Given the description of an element on the screen output the (x, y) to click on. 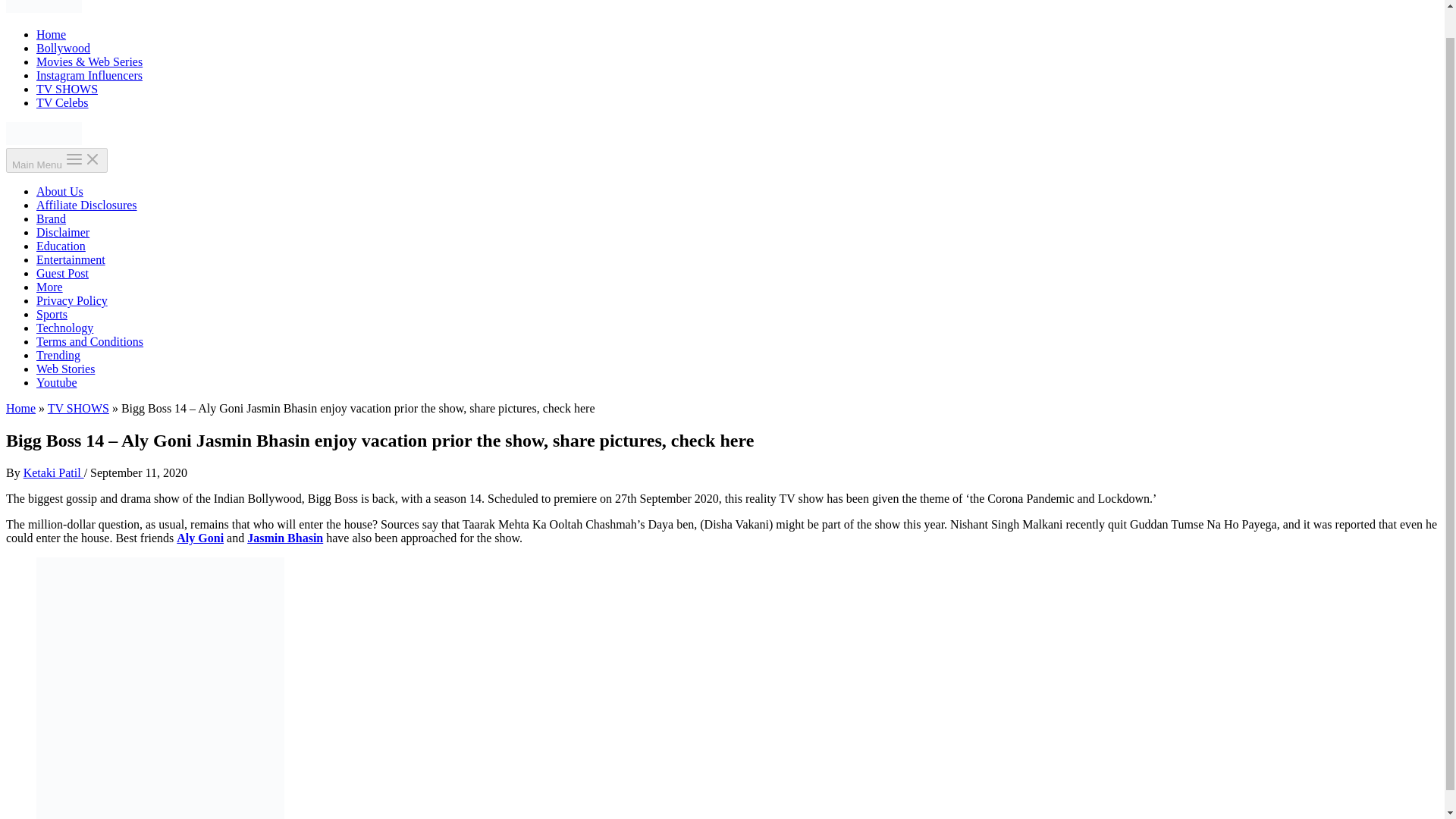
Youtube (56, 382)
TV SHOWS (78, 408)
TV SHOWS (66, 88)
Home (50, 33)
Technology (64, 327)
Main Menu (56, 160)
Home (19, 408)
Terms and Conditions (89, 341)
Privacy Policy (71, 300)
TV Celebs (62, 102)
